Given the description of an element on the screen output the (x, y) to click on. 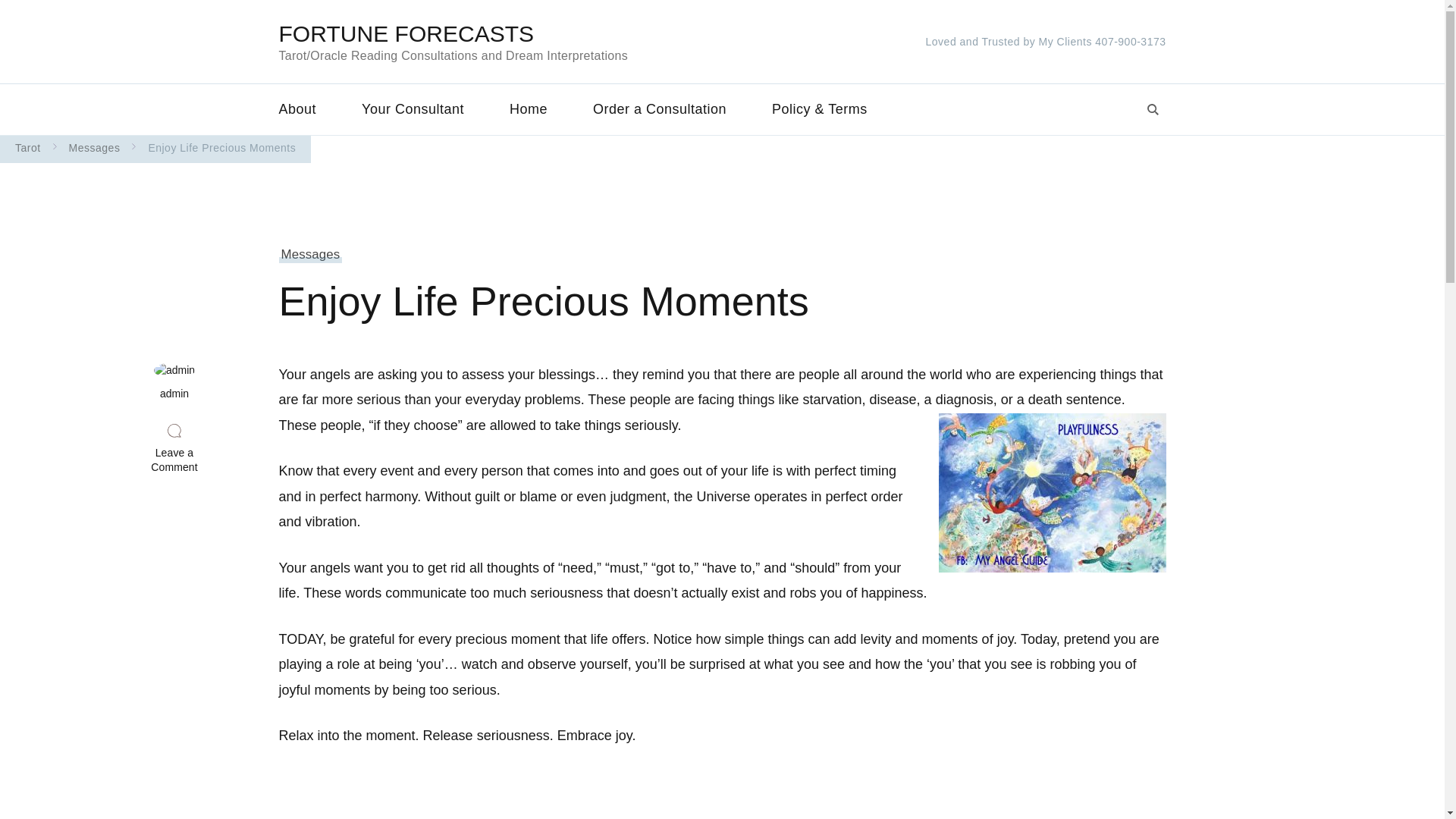
FORTUNE FORECASTS (406, 33)
admin (173, 382)
Home (528, 109)
Loved and Trusted by My Clients 407-900-3173 (1046, 41)
Messages (310, 254)
About (309, 109)
Order a Consultation (659, 109)
Enjoy Life Precious Moments (221, 147)
Your Consultant (412, 109)
